Given the description of an element on the screen output the (x, y) to click on. 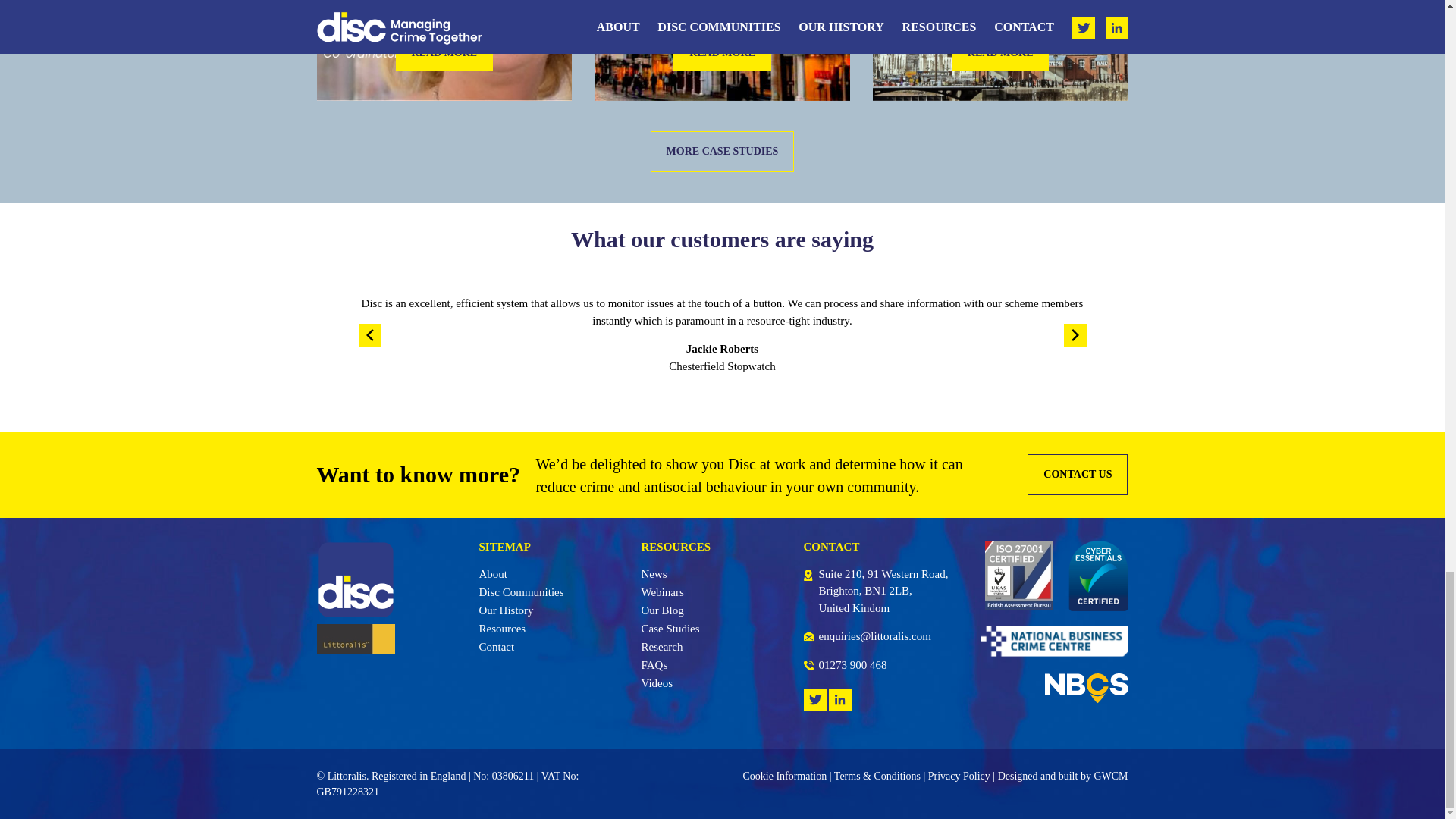
Webinars (663, 592)
CONTACT US (1076, 474)
Our History (506, 610)
READ MORE (444, 52)
Disc Communities (521, 592)
Resources (502, 628)
Contact (497, 646)
MORE CASE STUDIES (722, 151)
READ MORE (721, 52)
About (493, 573)
Our Blog (663, 610)
News (654, 573)
READ MORE (1000, 52)
